Given the description of an element on the screen output the (x, y) to click on. 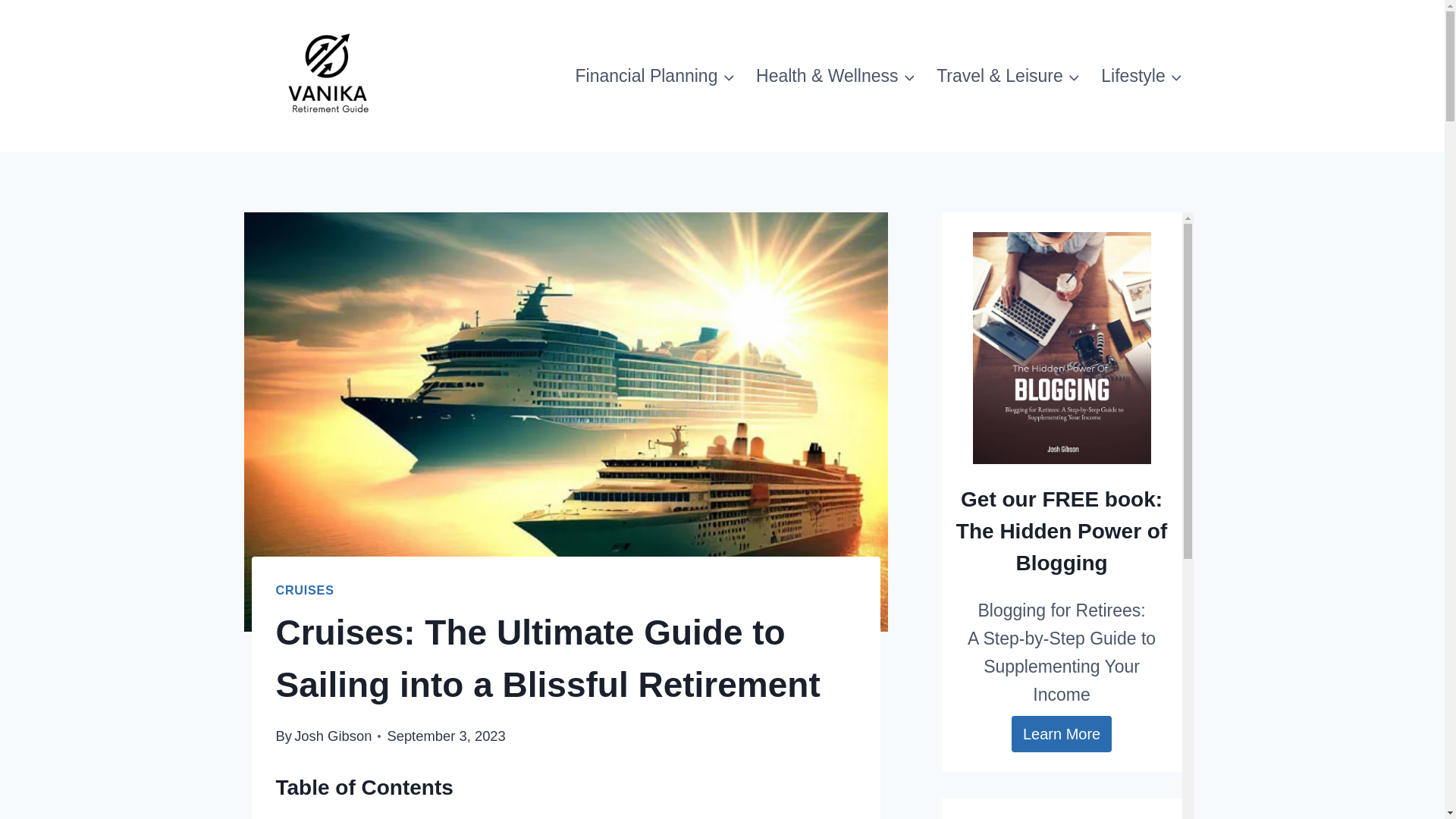
Lifestyle (1141, 75)
Financial Planning (654, 75)
